Given the description of an element on the screen output the (x, y) to click on. 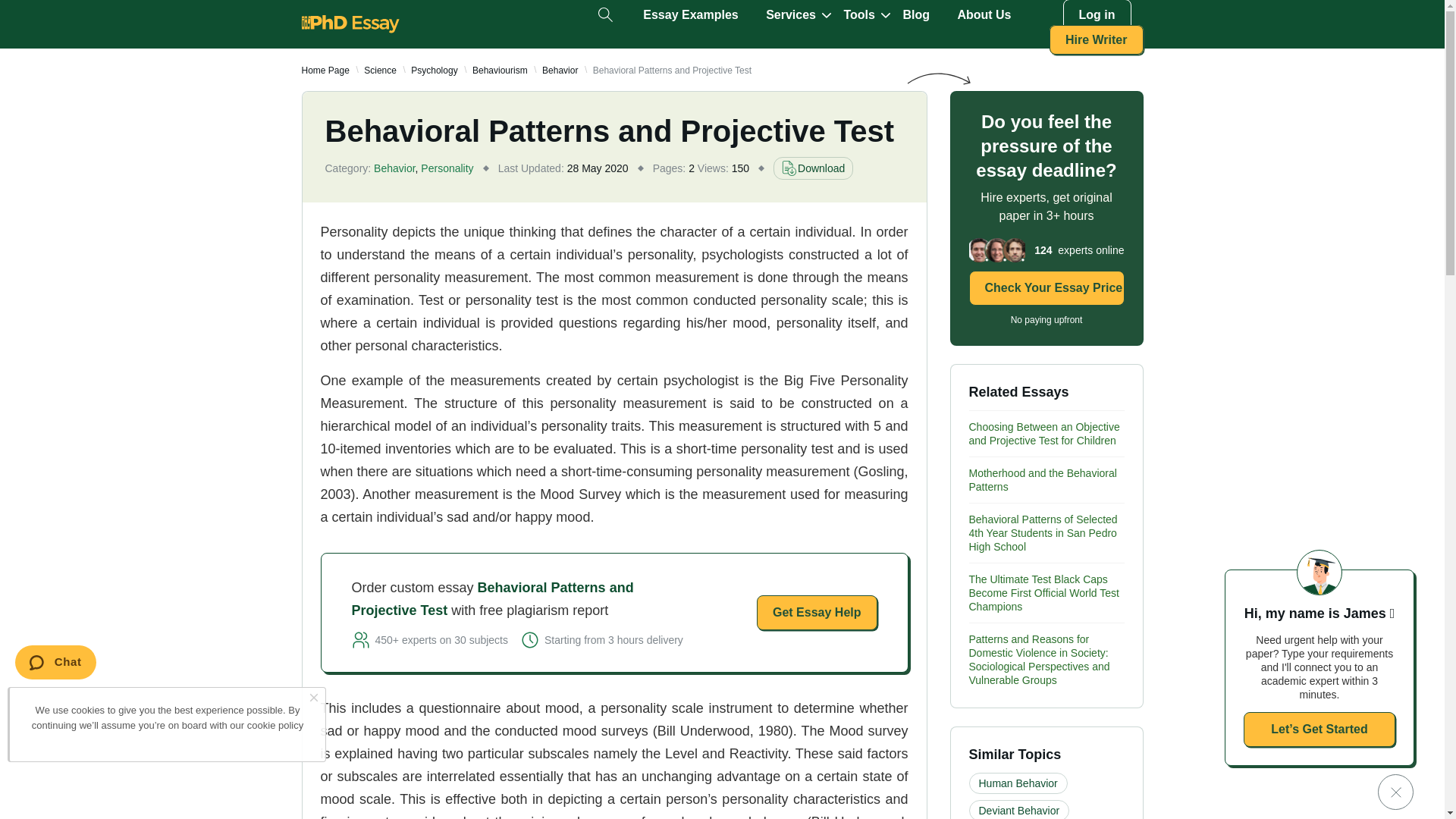
Download (813, 168)
Tools (859, 15)
Get Essay Help (817, 612)
Behaviourism (499, 70)
Hire Writer (1095, 39)
Services (790, 15)
Log in (1096, 15)
About Us (983, 15)
Behavior (559, 70)
Home Page (325, 70)
Essay Examples (690, 15)
Blog (916, 15)
Science (380, 70)
Psychology (433, 70)
